Given the description of an element on the screen output the (x, y) to click on. 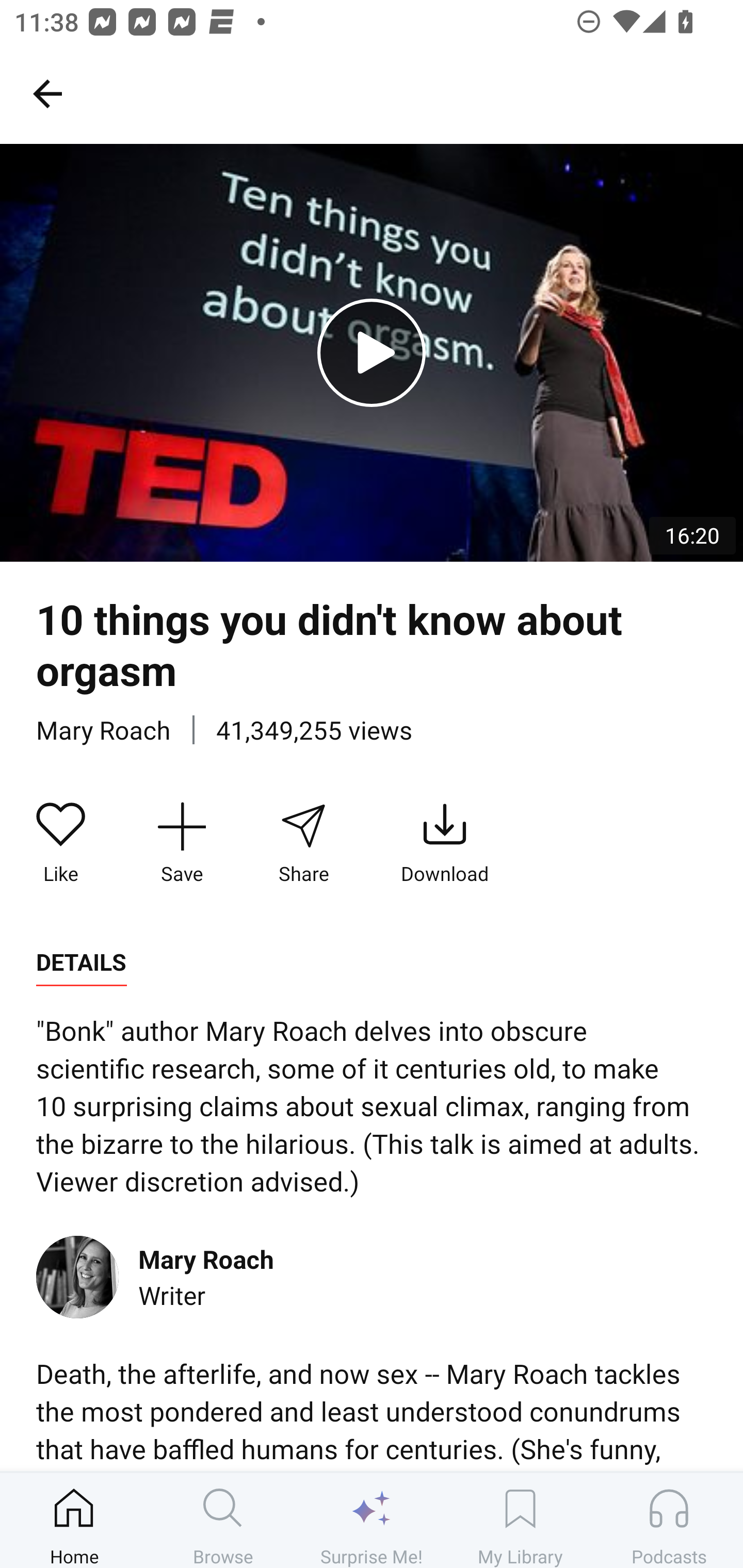
Home, back (47, 92)
Like (60, 843)
Save (181, 843)
Share (302, 843)
Download (444, 843)
DETAILS (80, 962)
Home (74, 1520)
Browse (222, 1520)
Surprise Me! (371, 1520)
My Library (519, 1520)
Podcasts (668, 1520)
